Given the description of an element on the screen output the (x, y) to click on. 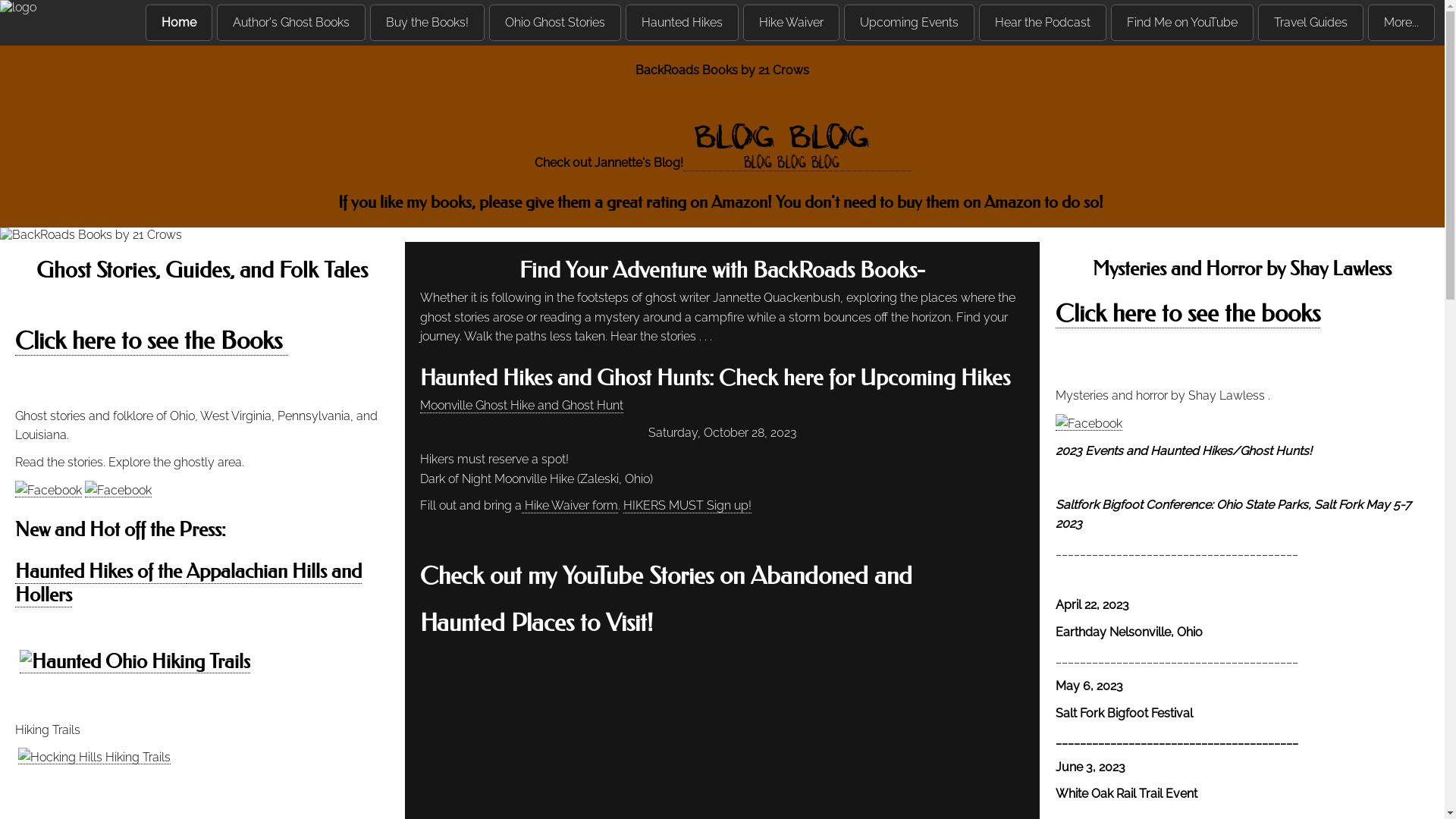
Moonville Ghost Hike and Ghost Hunt Element type: text (521, 405)
Find Me on YouTube Element type: text (1181, 22)
Travel Guides Element type: text (1310, 22)
Buy the Books! Element type: text (427, 22)
Click here to see the books Element type: text (1187, 313)
Author's Ghost Books Element type: text (290, 22)
Upcoming Events Element type: text (909, 22)
Haunted Hikes Element type: text (681, 22)
Click here to see the Books  Element type: text (151, 340)
Haunted Hikes of the Element type: text (100, 571)
 Hike Waiver form Element type: text (569, 505)
HIKERS MUST Sign up! Element type: text (687, 505)
Ohio Ghost Stories Element type: text (555, 22)
Hear the Podcast Element type: text (1042, 22)
Hike Waiver Element type: text (791, 22)
Appalachian Hills and Hollers Element type: text (188, 583)
More... Element type: text (1401, 22)
Home Element type: text (178, 22)
